Given the description of an element on the screen output the (x, y) to click on. 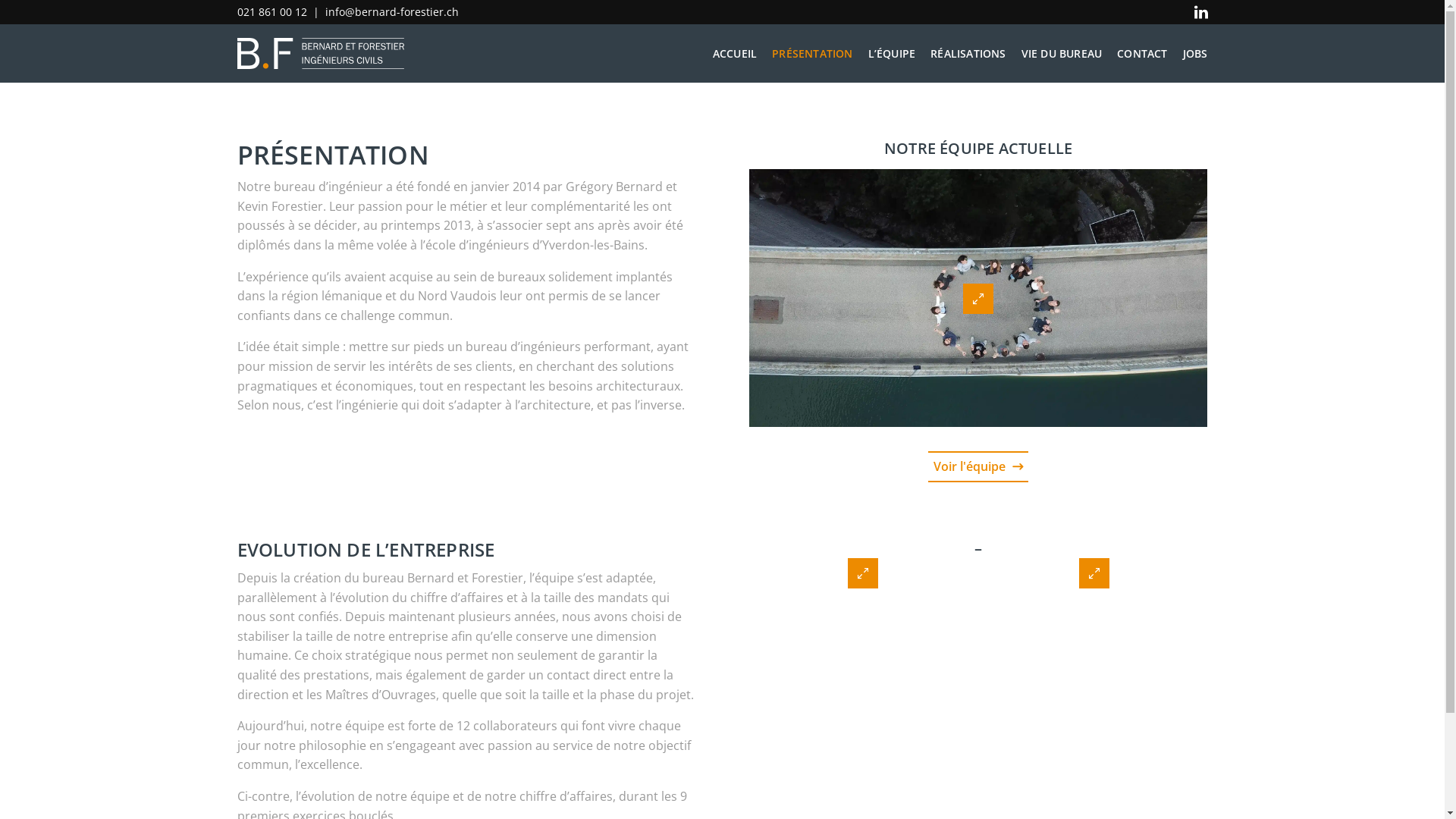
info@bernard-forestier.ch Element type: text (391, 11)
021 861 00 12 Element type: text (271, 11)
JOBS Element type: text (1195, 52)
CONTACT Element type: text (1141, 52)
LinkedIn Element type: hover (1201, 11)
VIE DU BUREAU Element type: text (1061, 52)
ACCUEIL Element type: text (734, 52)
